Given the description of an element on the screen output the (x, y) to click on. 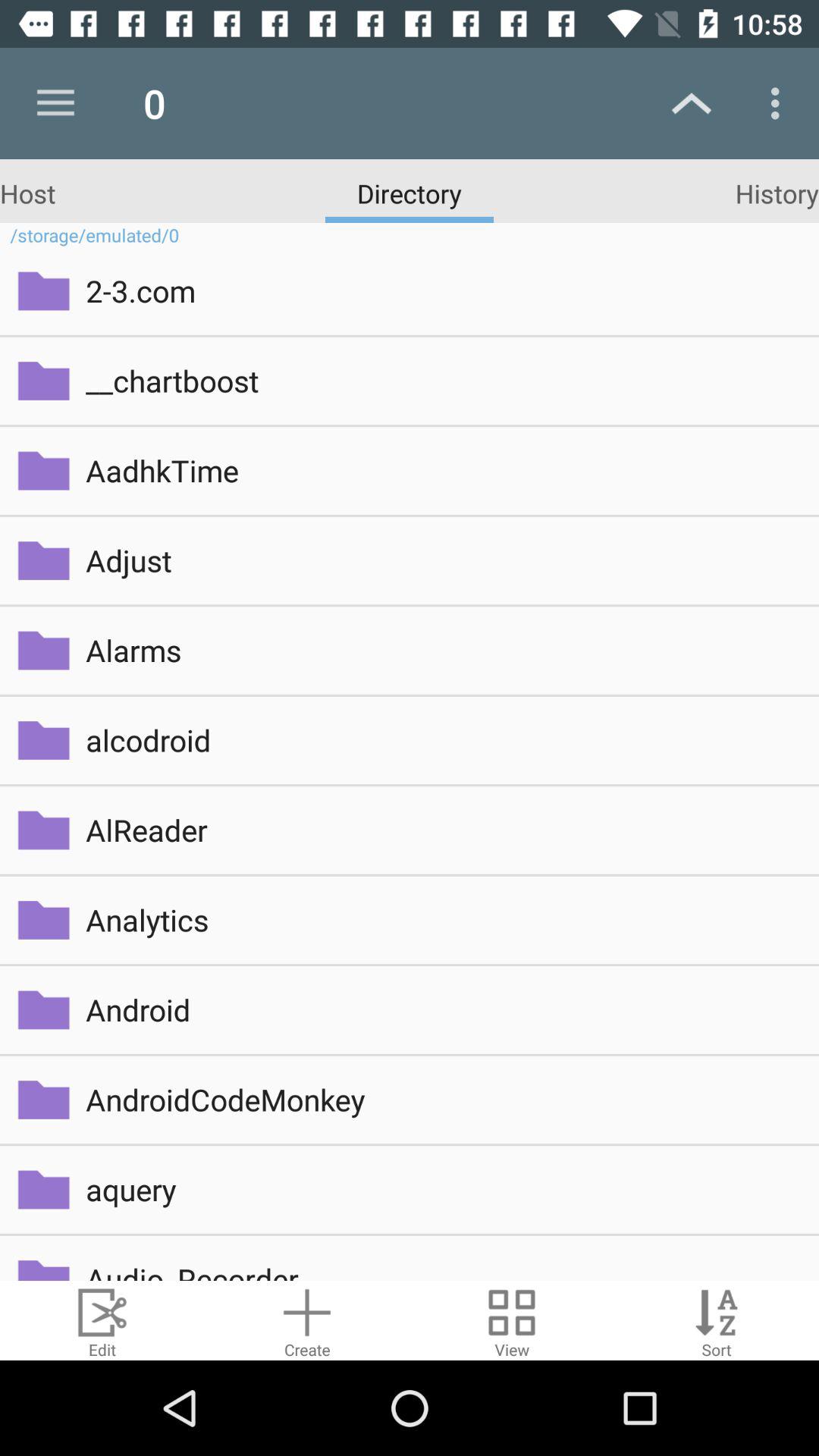
turn off the item to the left of 0 item (55, 103)
